Given the description of an element on the screen output the (x, y) to click on. 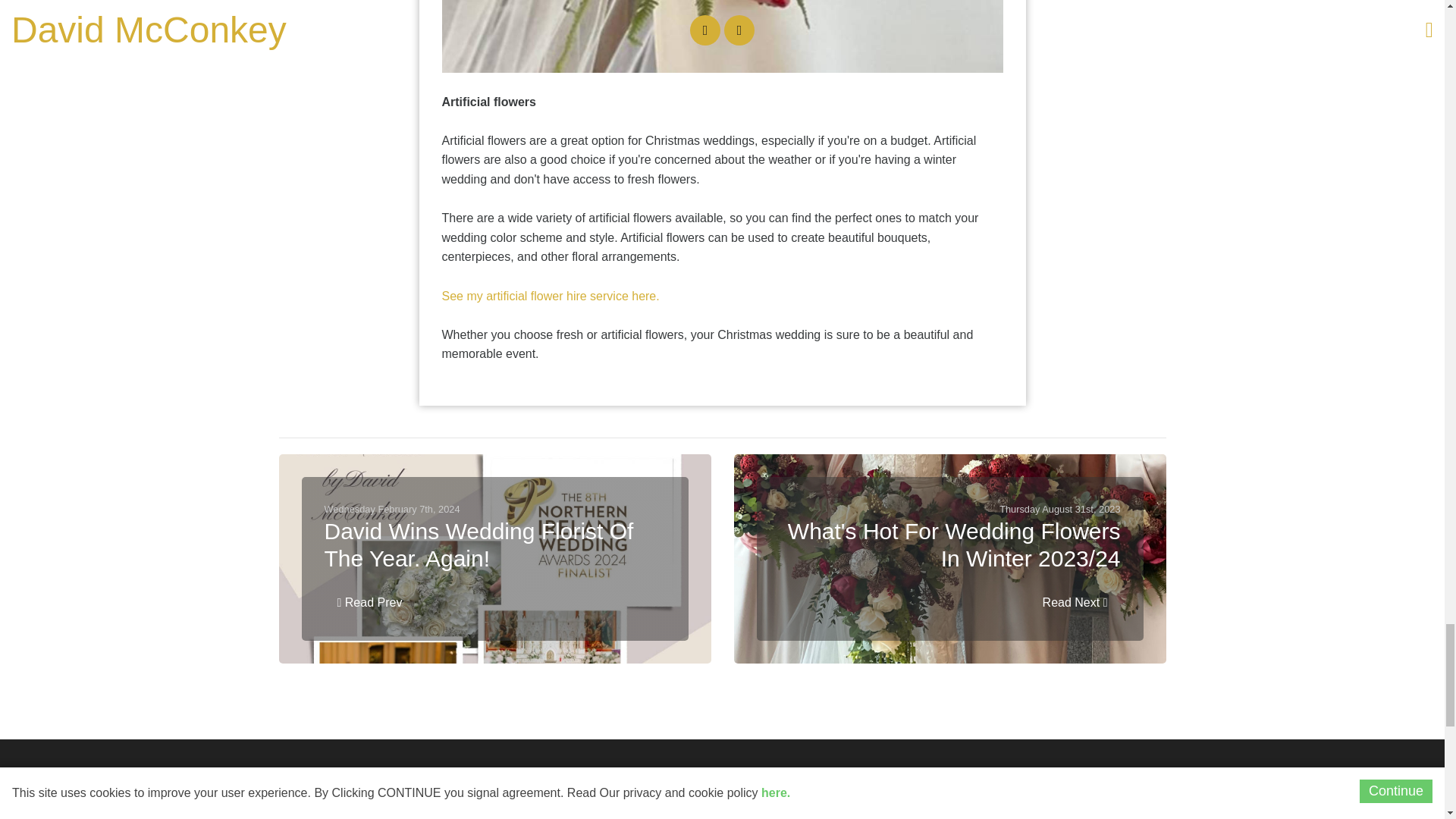
See my artificial flower hire service here. (550, 295)
Read Next (1075, 602)
David Wins Wedding Florist Of The Year. Again! (494, 544)
Read Prev (369, 602)
